Given the description of an element on the screen output the (x, y) to click on. 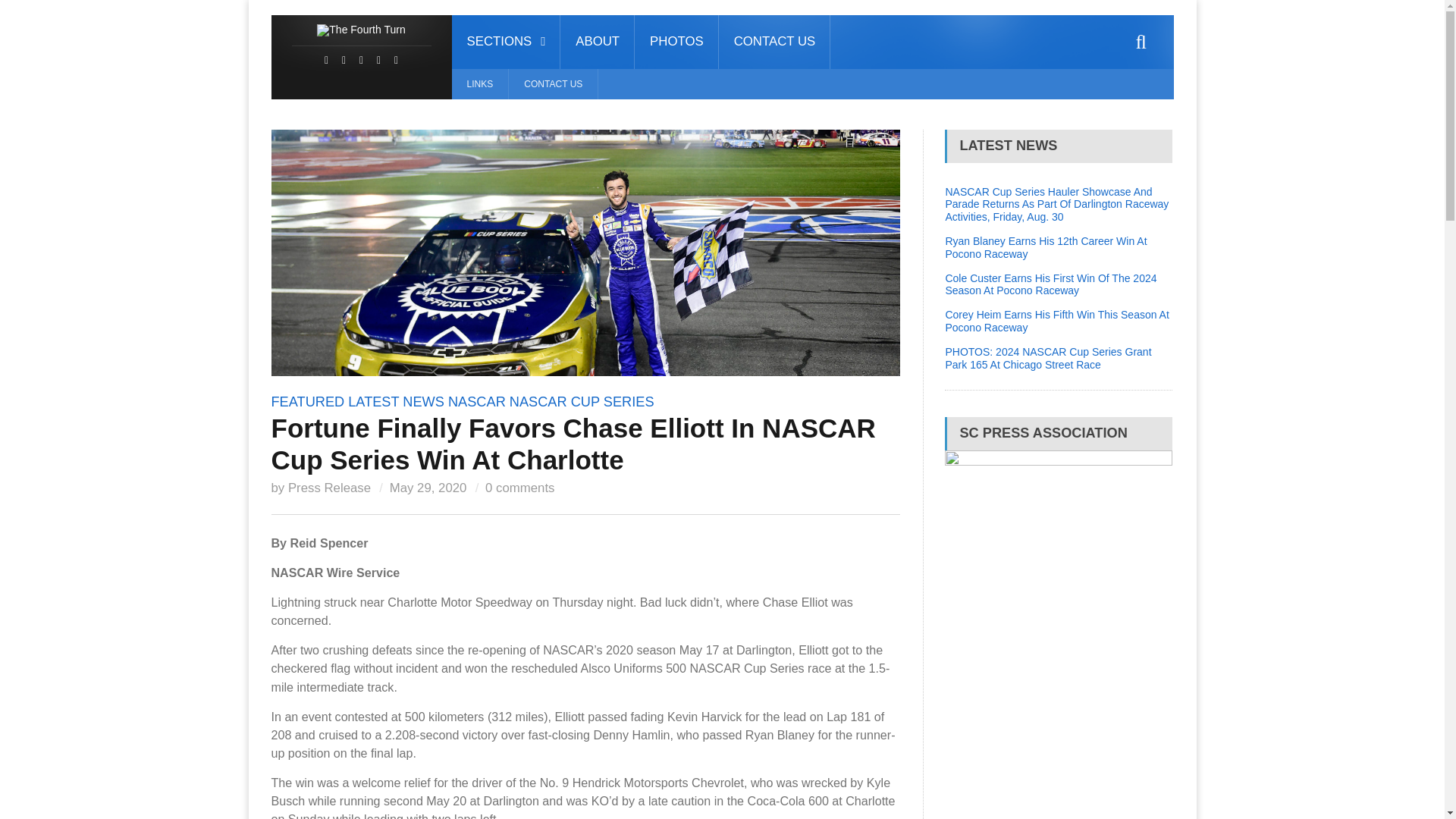
CONTACT US (552, 83)
LATEST NEWS (395, 401)
SECTIONS (505, 41)
Search (1140, 42)
Search (1140, 42)
Press Release (329, 487)
ABOUT (597, 41)
May 29, 2020 (428, 487)
Posts by Press Release (329, 487)
PHOTOS (676, 41)
NASCAR (476, 401)
FEATURED (307, 401)
LINKS (479, 83)
NASCAR CUP SERIES (581, 401)
0 comments (519, 487)
